Given the description of an element on the screen output the (x, y) to click on. 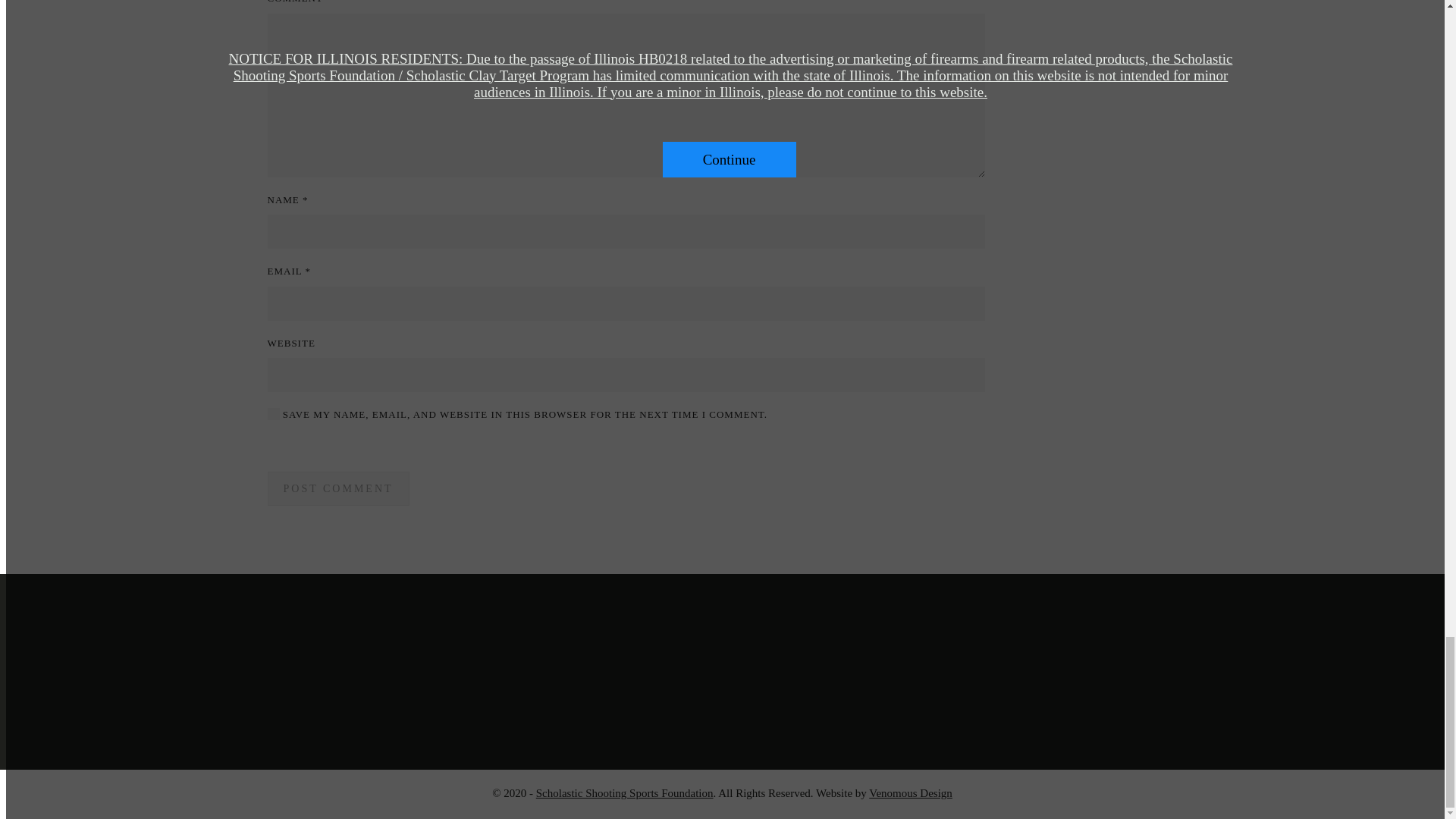
yes (272, 413)
